Given the description of an element on the screen output the (x, y) to click on. 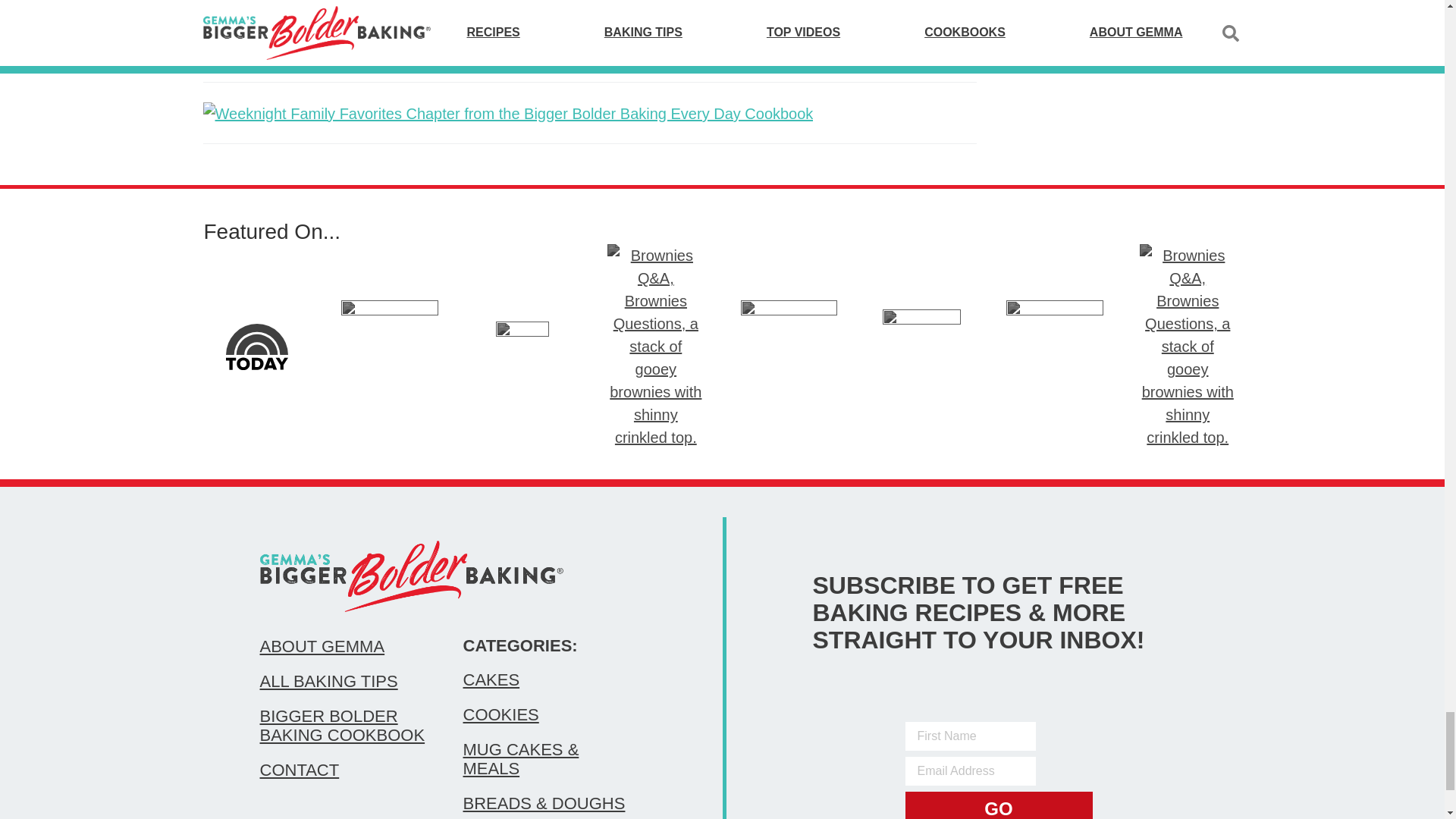
Bigger Bolder Baking Cookbook (345, 725)
Contact (345, 770)
All Baking Tips (345, 681)
About Gemma (345, 647)
